Given the description of an element on the screen output the (x, y) to click on. 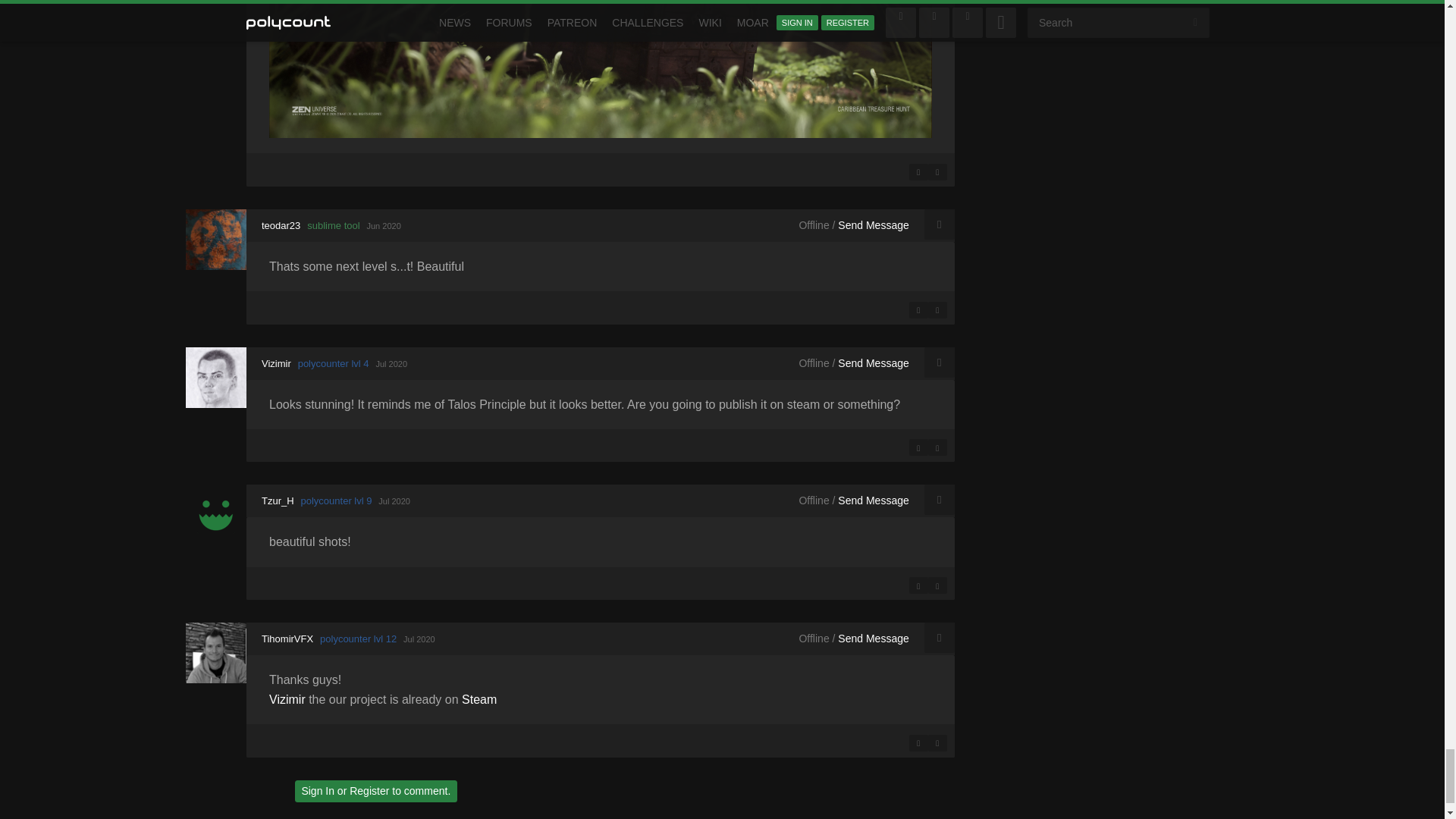
July 7, 2020 7:27AM (394, 501)
sublime tool (333, 225)
polycounter lvl 9 (336, 500)
July 6, 2020 5:16PM (391, 362)
June 30, 2020 6:57PM (383, 225)
polycounter lvl 4 (333, 362)
Vizimir (216, 376)
teodar23 (216, 239)
